Given the description of an element on the screen output the (x, y) to click on. 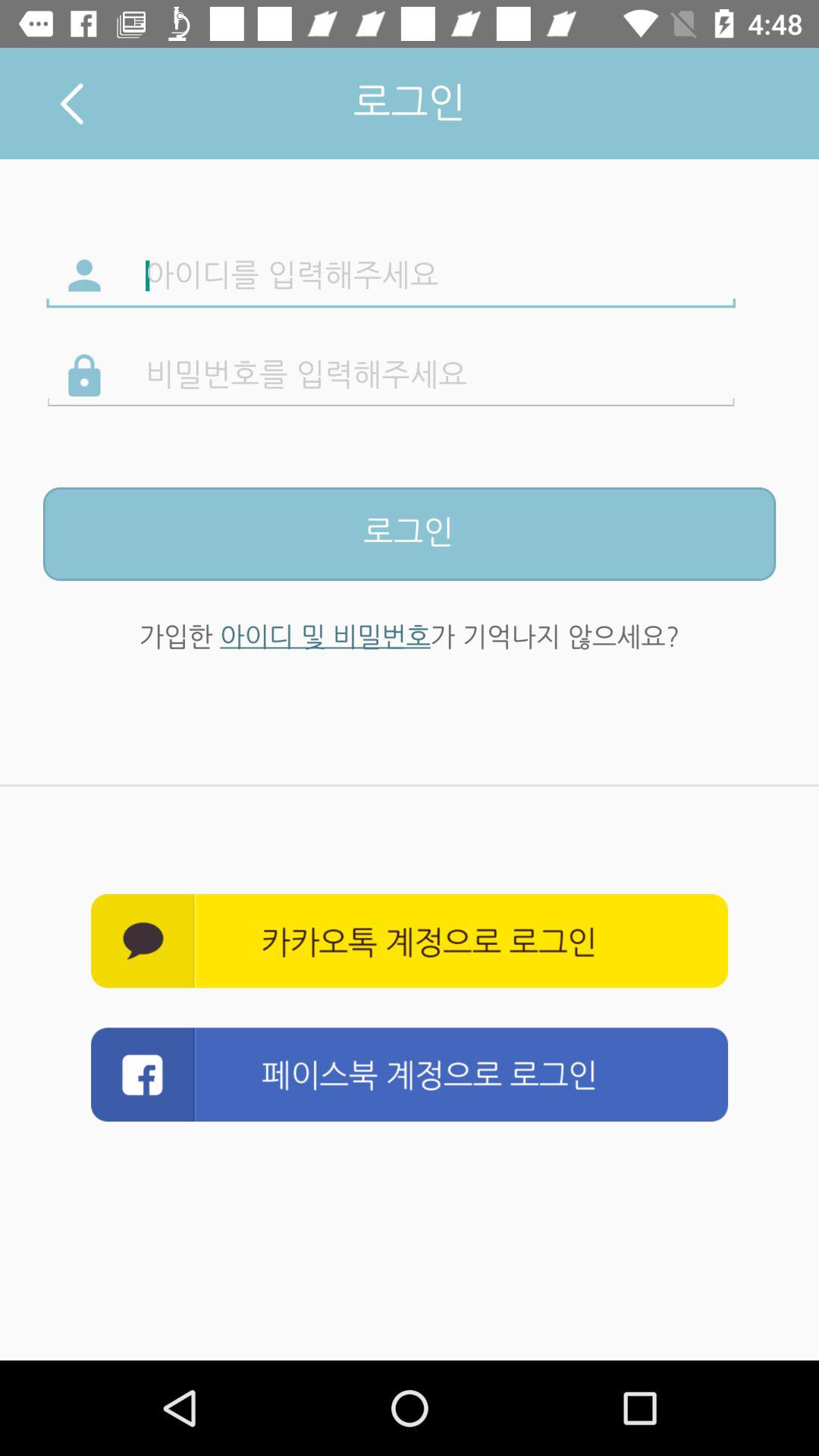
open the icon at the top left corner (71, 103)
